Given the description of an element on the screen output the (x, y) to click on. 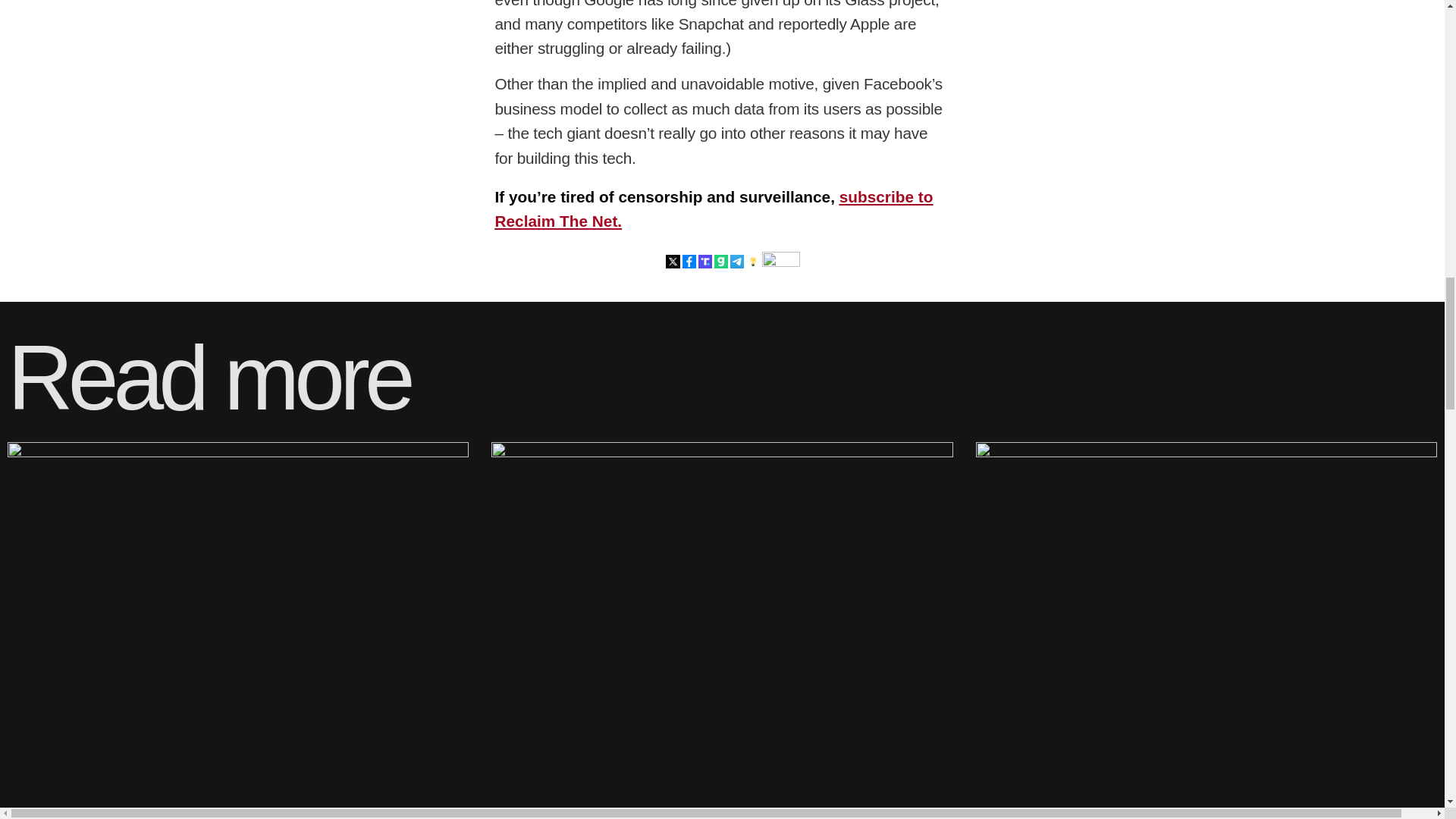
subscribe to Reclaim The Net. (714, 208)
